Given the description of an element on the screen output the (x, y) to click on. 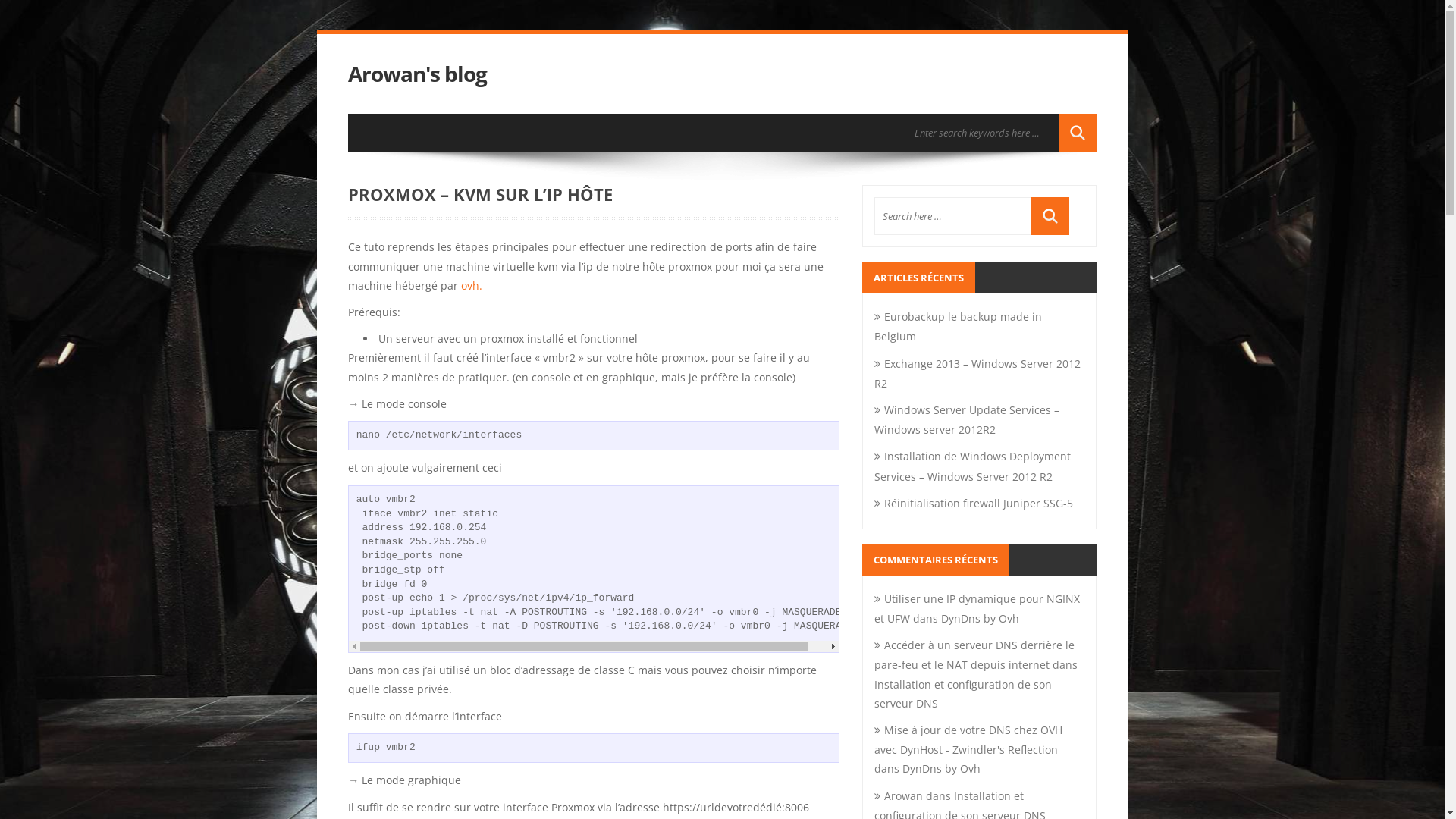
Utiliser une IP dynamique pour NGINX et UFW Element type: text (976, 608)
DynDns by Ovh Element type: text (941, 768)
Search for: Element type: hover (953, 216)
DynDns by Ovh Element type: text (980, 618)
Eurobackup le backup made in Belgium Element type: text (957, 326)
Arowan's blog Element type: text (417, 73)
Installation et configuration de son serveur DNS Element type: text (962, 693)
Search for: Element type: hover (982, 132)
ovh. Element type: text (471, 285)
